Given the description of an element on the screen output the (x, y) to click on. 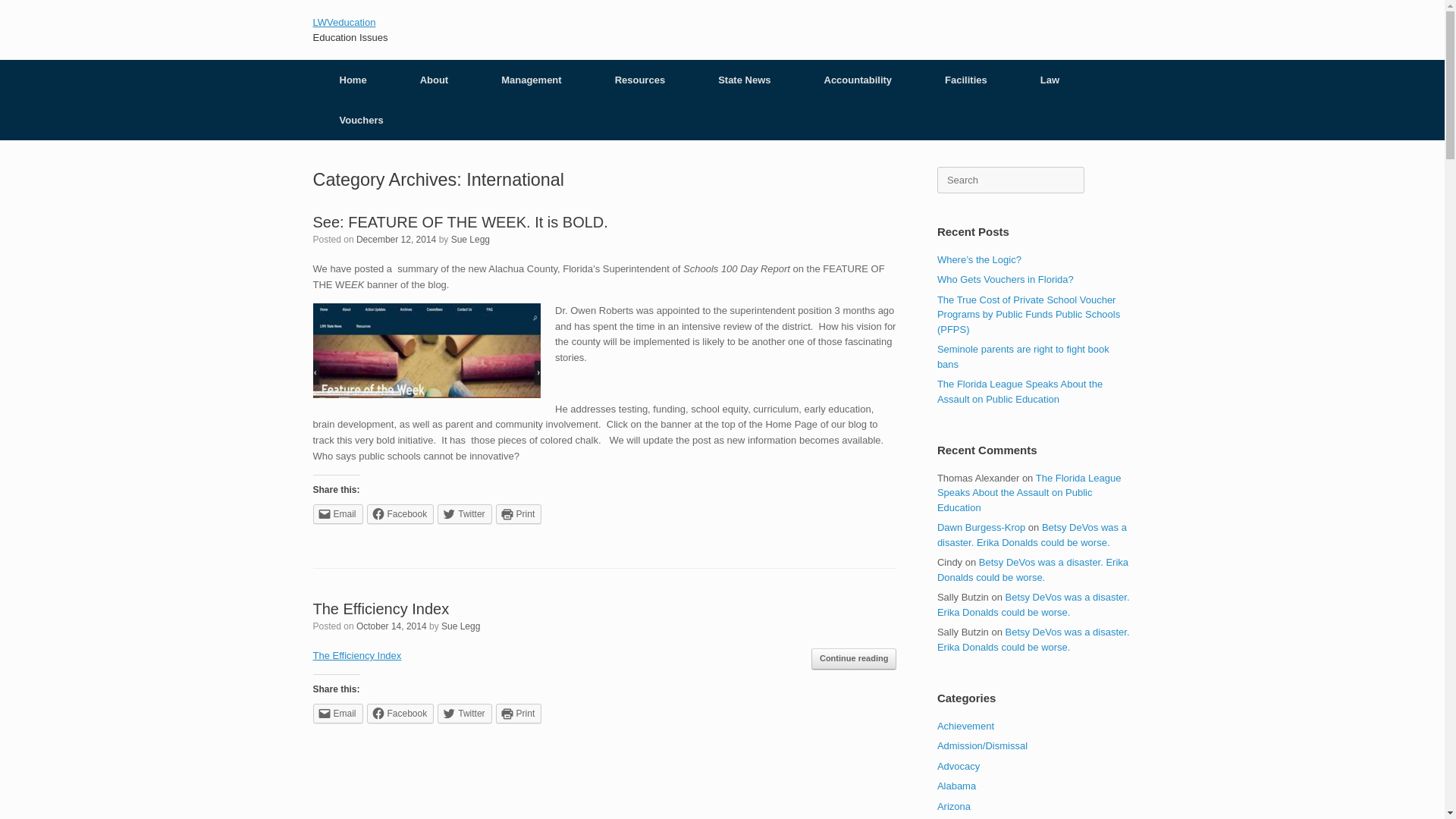
Management (531, 79)
Resources (639, 79)
Seminole parents are right to fight book bans (1023, 356)
Facebook (399, 713)
Print (518, 713)
October 14, 2014 (391, 625)
Home (353, 79)
Click to share on Facebook (399, 514)
